Given the description of an element on the screen output the (x, y) to click on. 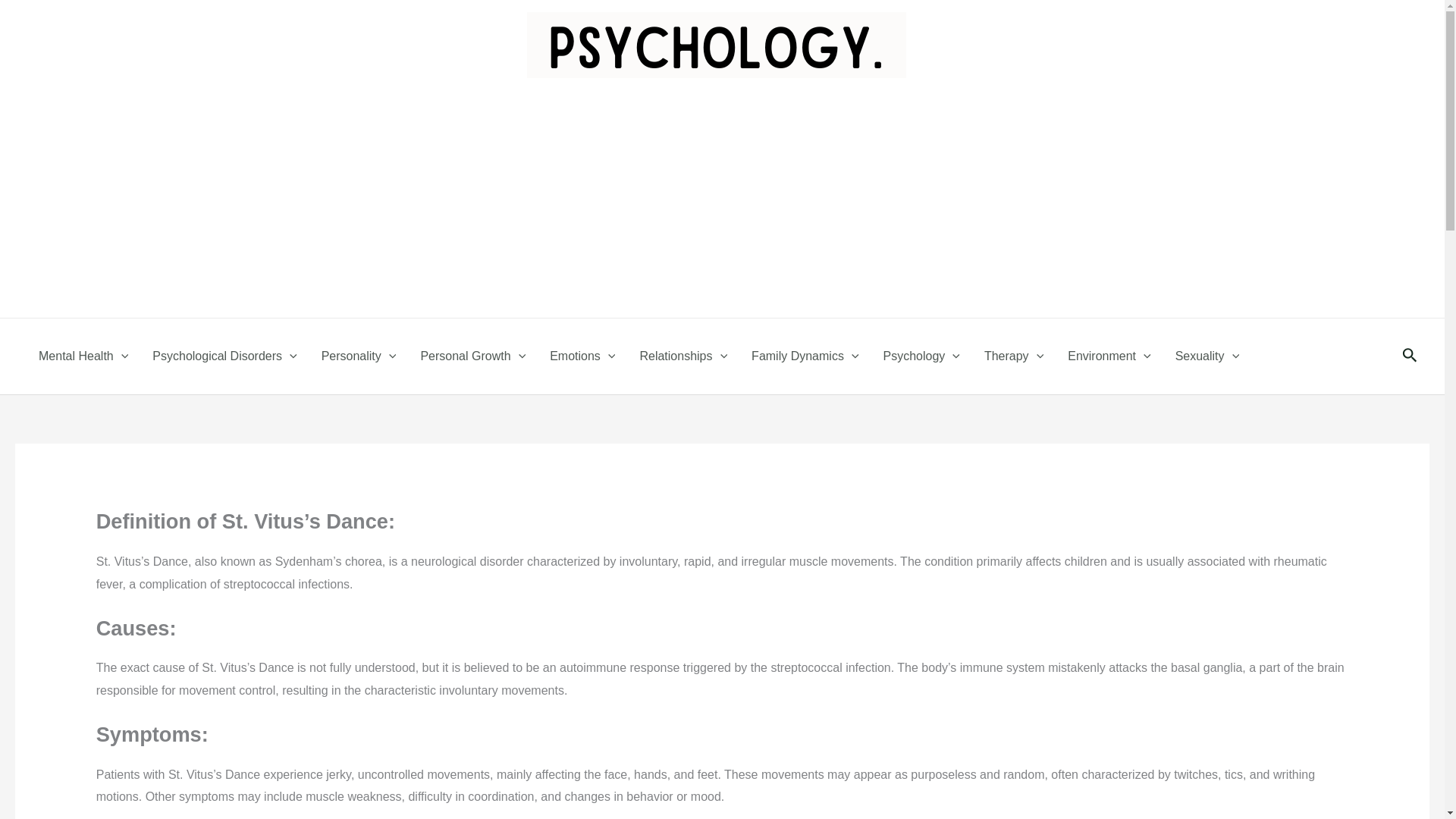
Mental Health (82, 355)
Psychological Disorders (223, 355)
Personality (358, 355)
